Given the description of an element on the screen output the (x, y) to click on. 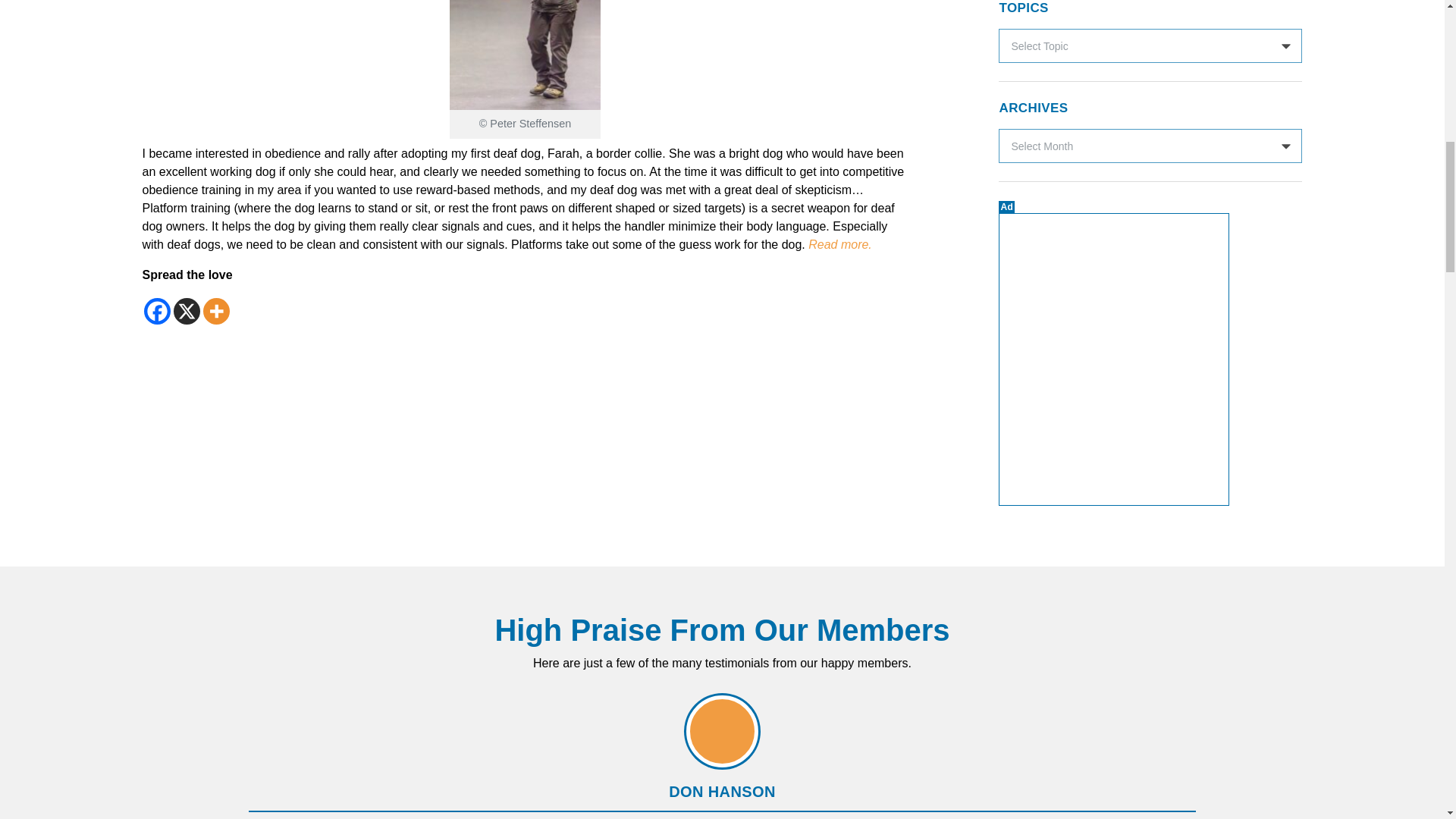
More (216, 311)
X (186, 311)
Facebook (157, 311)
